Given the description of an element on the screen output the (x, y) to click on. 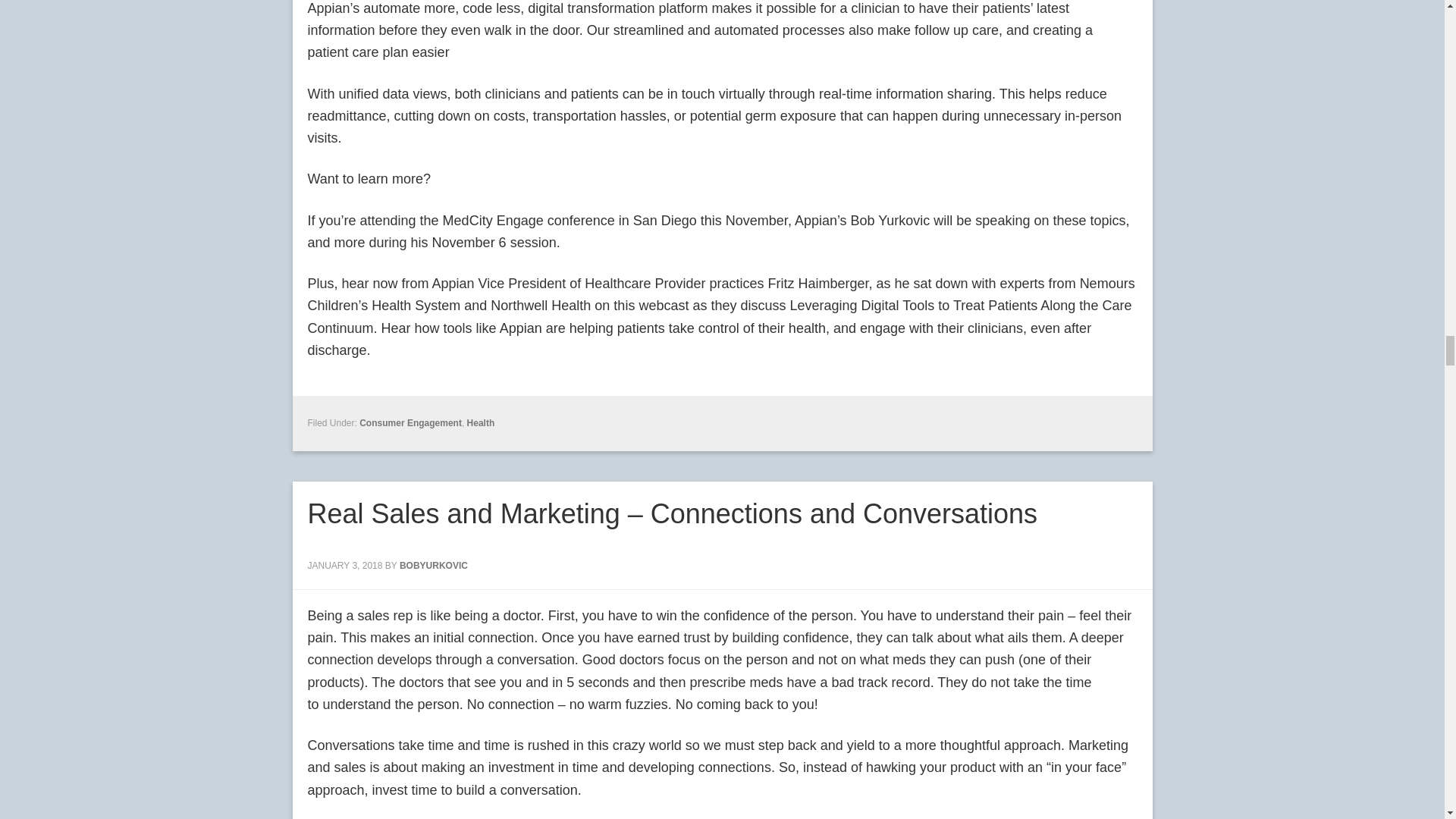
Consumer Engagement (410, 422)
BOBYURKOVIC (432, 565)
Health (481, 422)
